Given the description of an element on the screen output the (x, y) to click on. 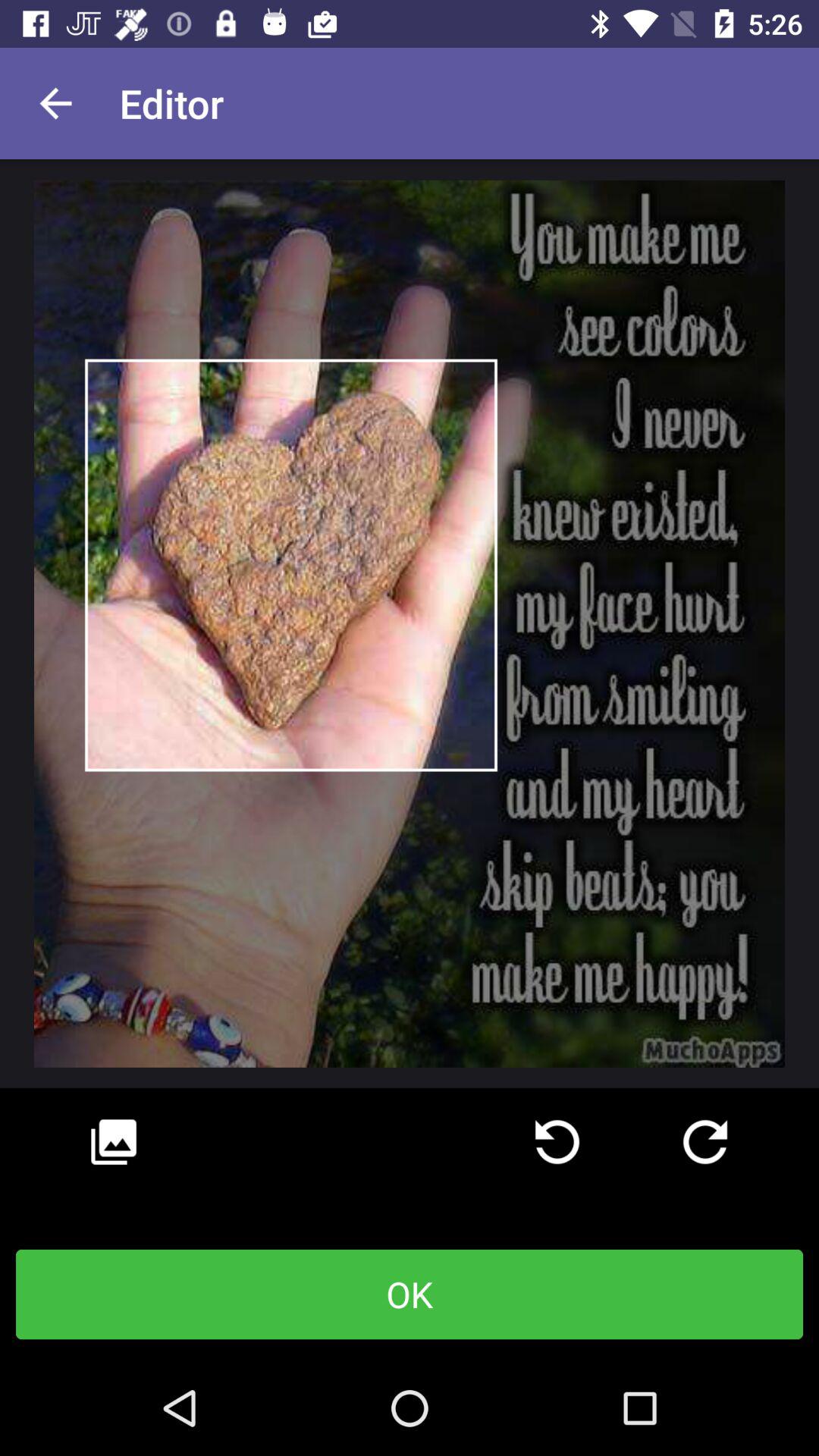
rotate right (705, 1142)
